Given the description of an element on the screen output the (x, y) to click on. 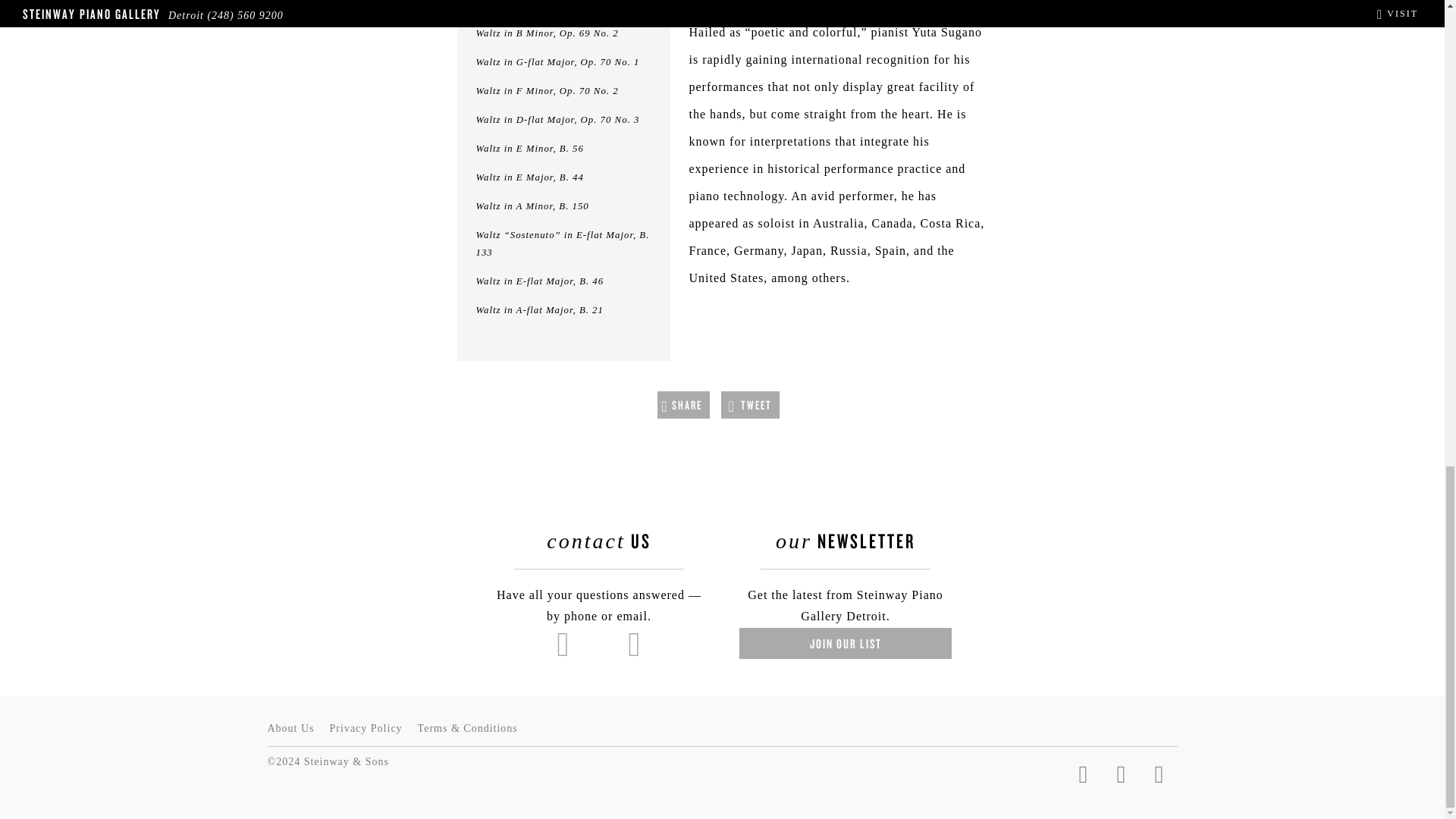
About Us (290, 727)
JOIN OUR LIST (845, 643)
Privacy Policy (366, 727)
WATCH LIVESTREAM (837, 3)
